Given the description of an element on the screen output the (x, y) to click on. 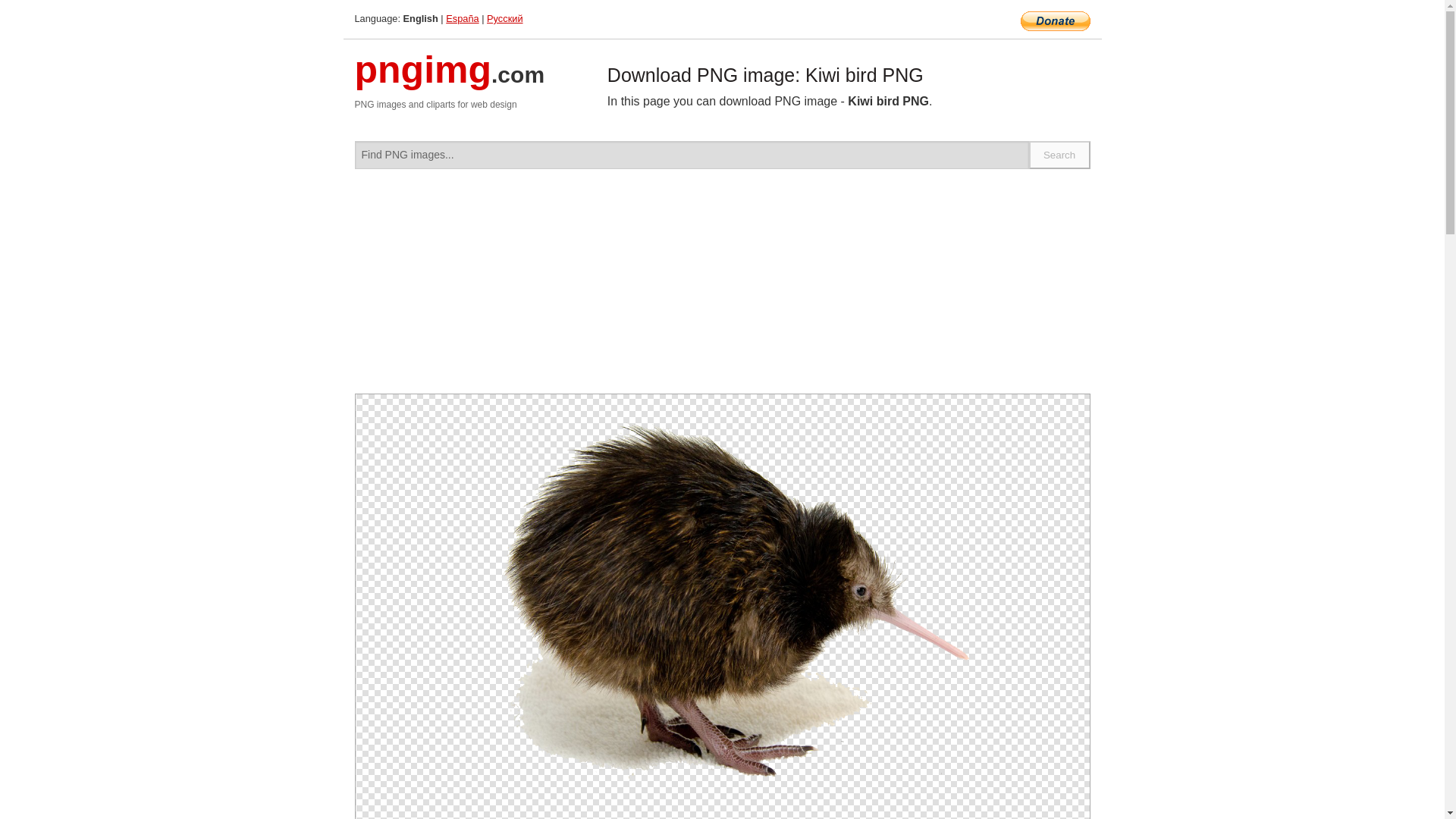
pngimg.com (449, 78)
Search (1059, 154)
Search (1059, 154)
